Given the description of an element on the screen output the (x, y) to click on. 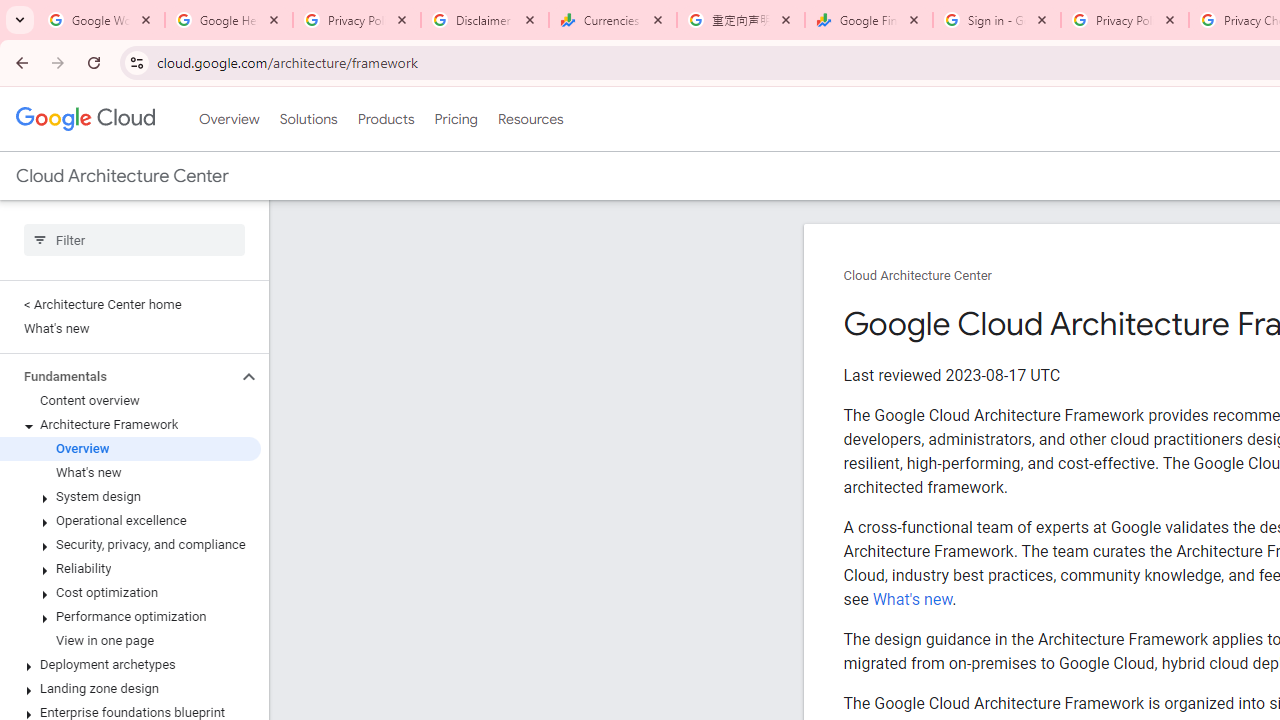
Cloud Architecture Center (917, 276)
Google Workspace Admin Community (101, 20)
Type to filter (134, 239)
Cost optimization (130, 592)
Landing zone design (130, 688)
Deployment archetypes (130, 664)
Architecture Framework (130, 425)
View in one page (130, 641)
Solutions (308, 119)
